Given the description of an element on the screen output the (x, y) to click on. 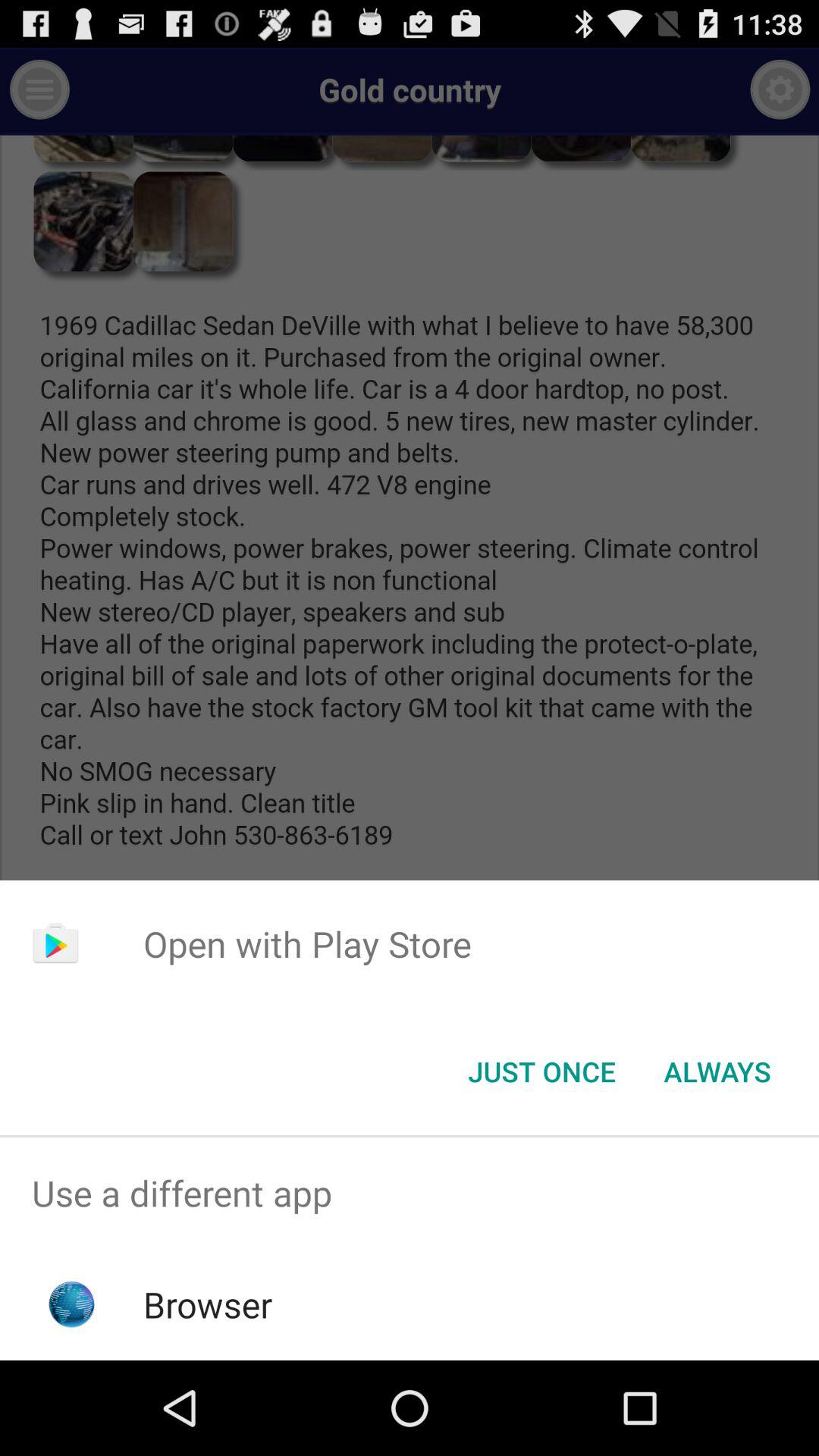
click the use a different (409, 1192)
